Given the description of an element on the screen output the (x, y) to click on. 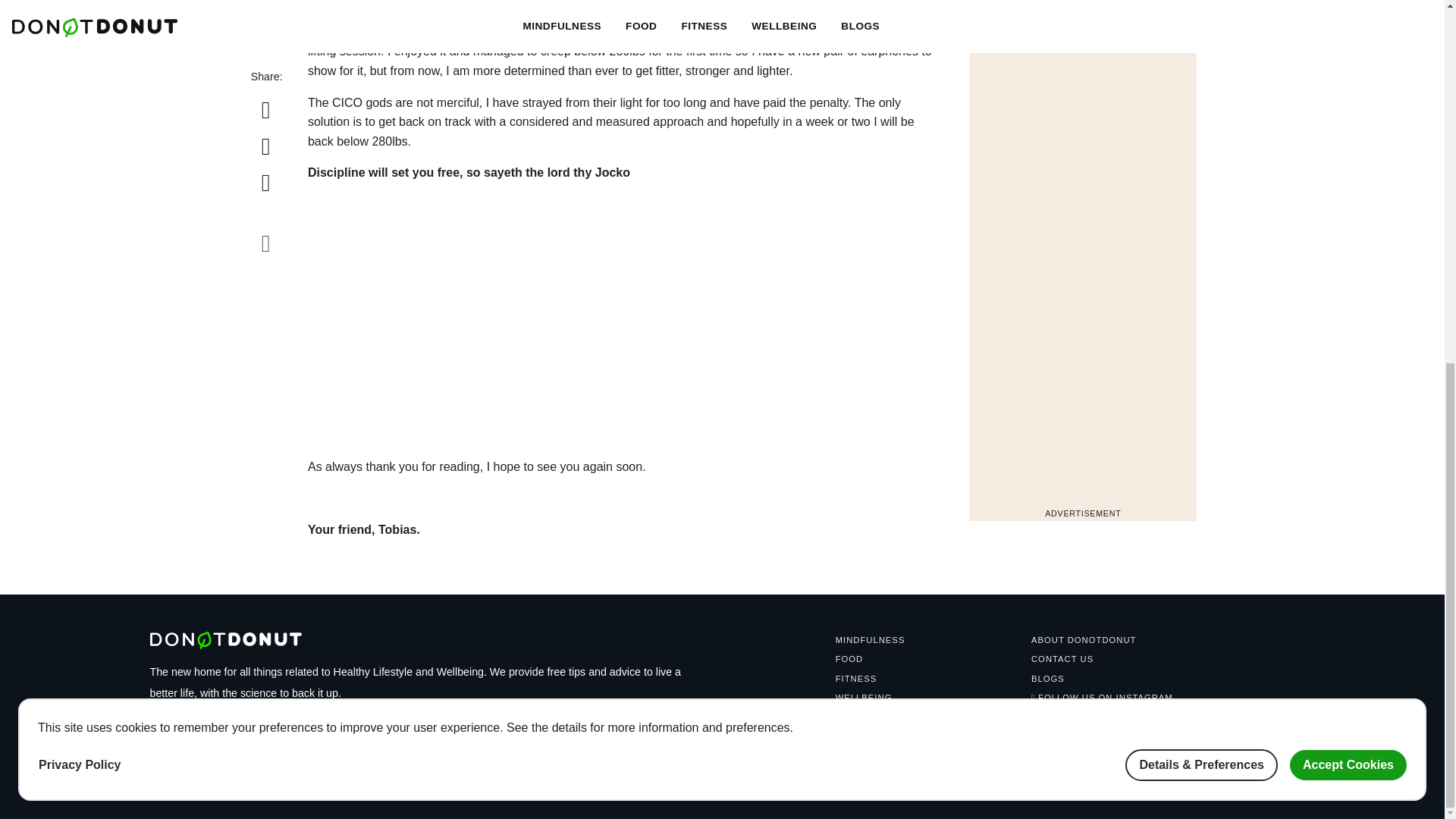
MINDFULNESS (870, 639)
FOLLOW US ON INSTAGRAM (1101, 696)
Blog (868, 11)
CONTACT US (1061, 658)
FOOD (849, 658)
BLOGS (1047, 678)
ABOUT DONOTDONUT (1082, 639)
Privacy Policy (79, 116)
WELLBEING (1082, 9)
